Given the description of an element on the screen output the (x, y) to click on. 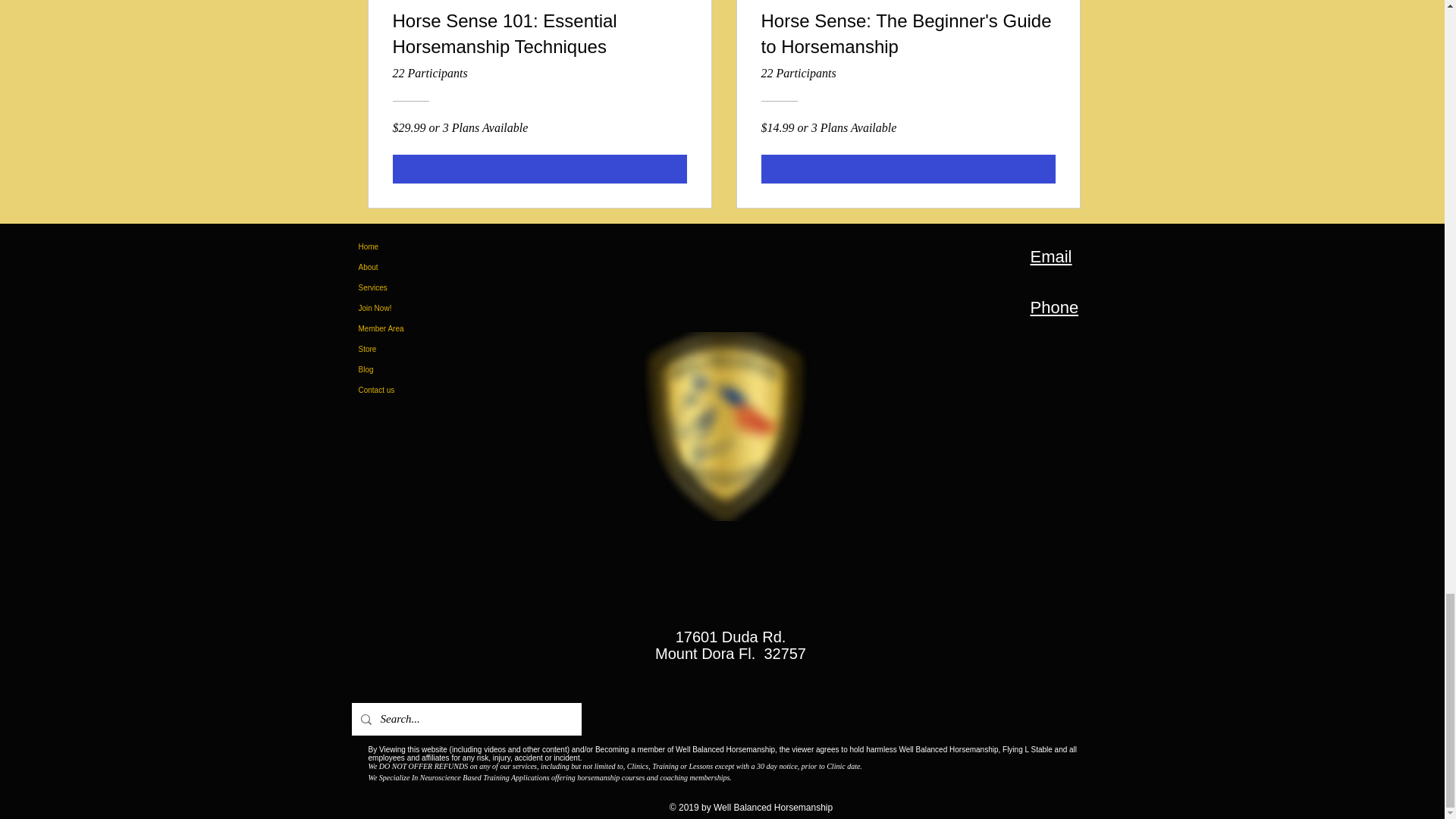
Home (403, 246)
Contact us (403, 390)
Horse Sense: The Beginner's Guide to Horsemanship (908, 36)
View Details (540, 168)
Join Now! (403, 308)
Store (403, 349)
Blog (403, 369)
Horse Sense 101: Essential Horsemanship Techniques (540, 36)
View Details (908, 168)
Member Area (403, 328)
